Given the description of an element on the screen output the (x, y) to click on. 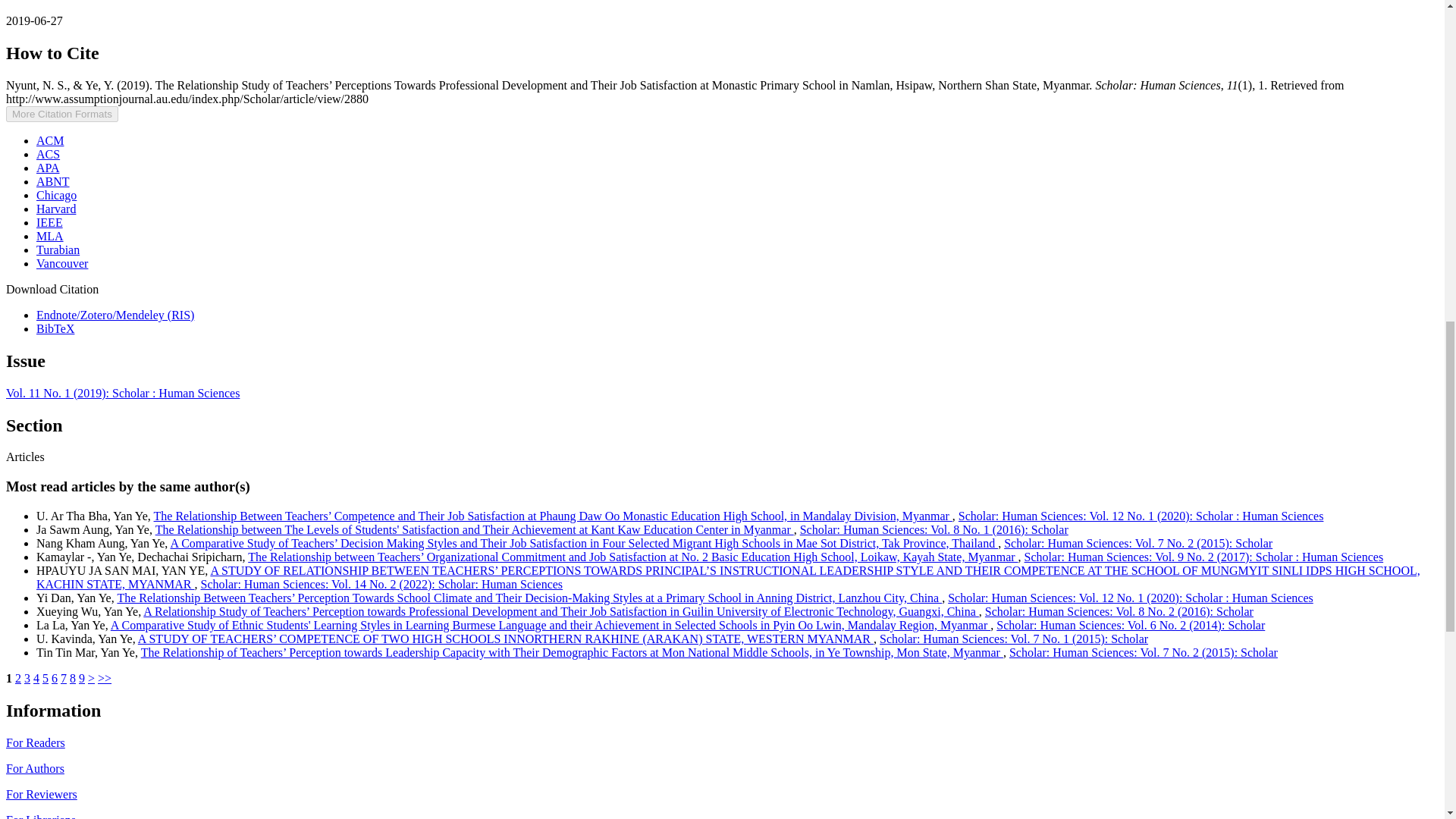
ABNT (52, 181)
Turabian (58, 249)
More Citation Formats (61, 114)
APA (47, 167)
Harvard (55, 208)
Chicago (56, 195)
IEEE (49, 222)
ACM (50, 140)
MLA (50, 236)
ACS (47, 154)
